Given the description of an element on the screen output the (x, y) to click on. 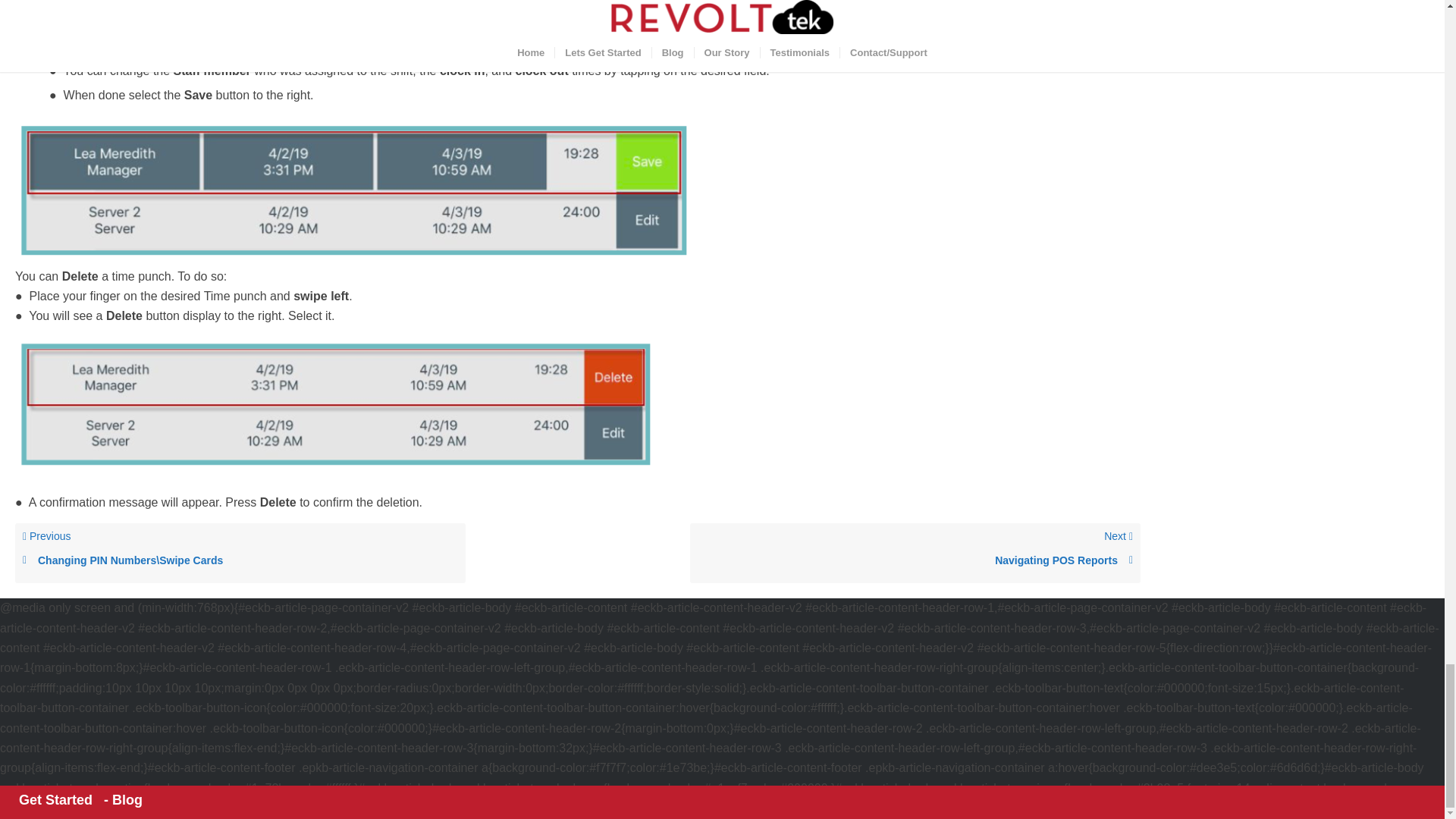
Navigating POS Reports (914, 560)
